Given the description of an element on the screen output the (x, y) to click on. 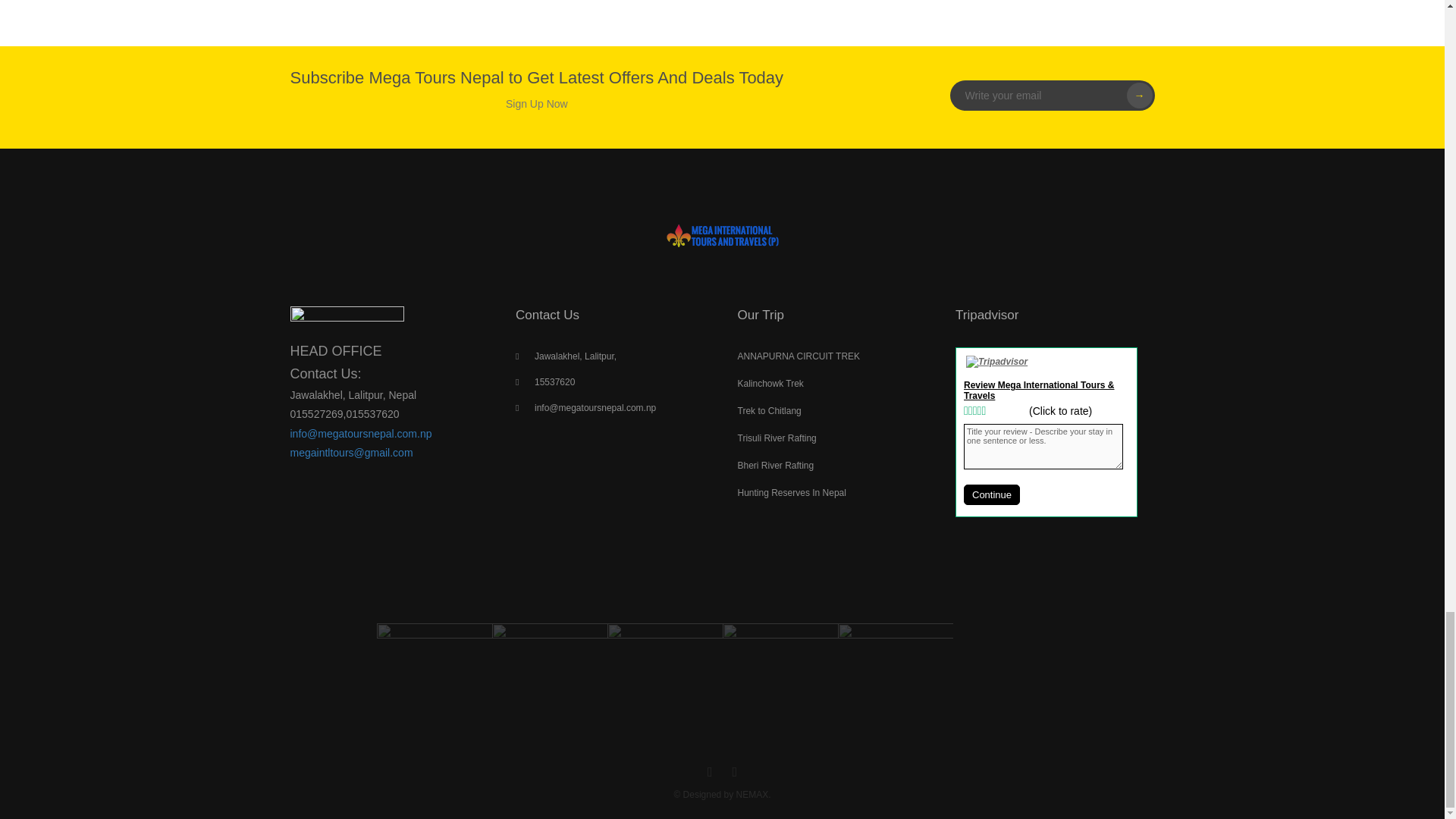
Continue (991, 494)
